Given the description of an element on the screen output the (x, y) to click on. 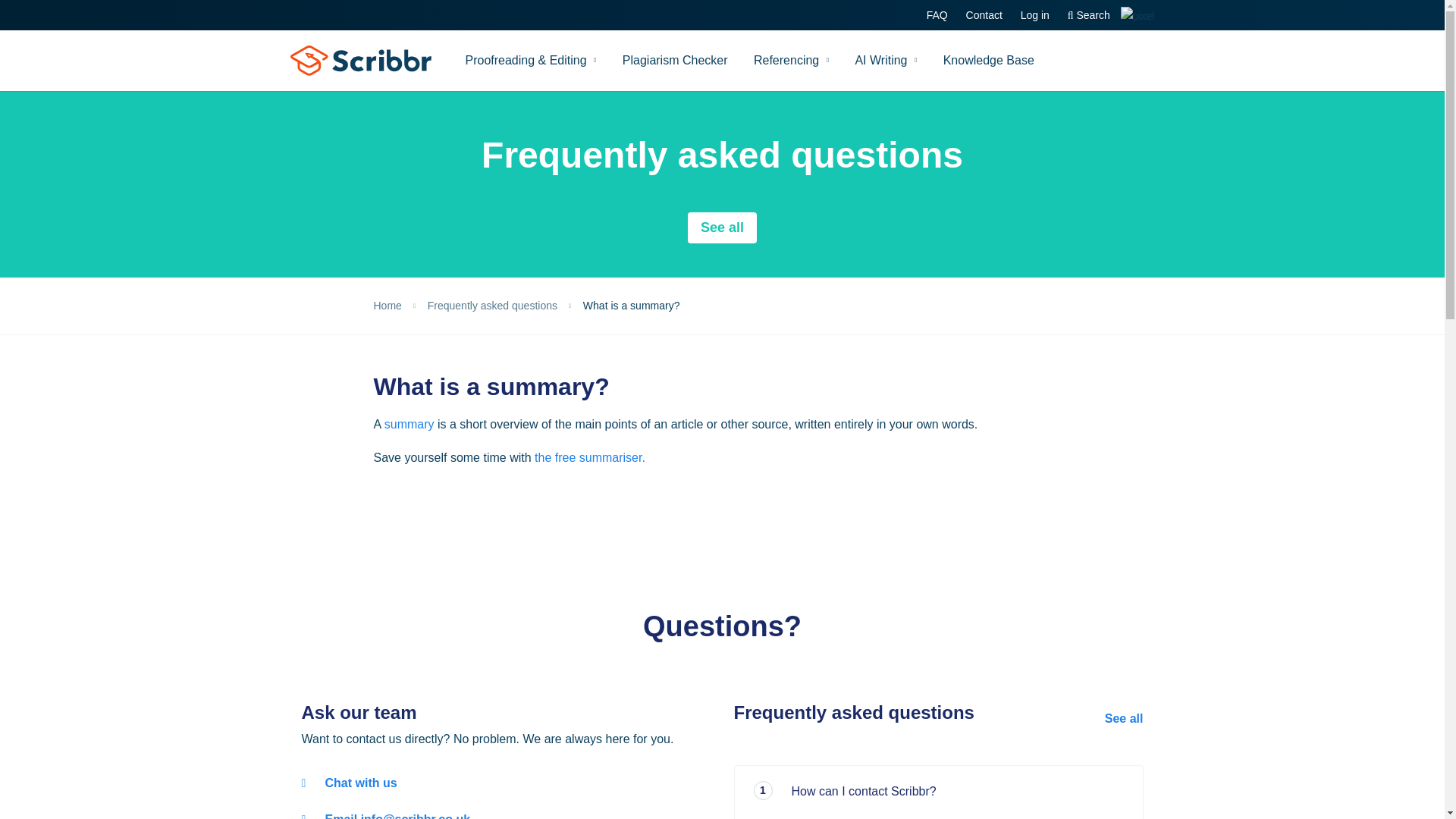
Knowledge Base (988, 60)
Contact (984, 15)
Plagiarism Checker (675, 60)
Log in (1034, 15)
Referencing (791, 60)
Search (1088, 15)
FAQ (937, 15)
AI Writing (885, 60)
